Given the description of an element on the screen output the (x, y) to click on. 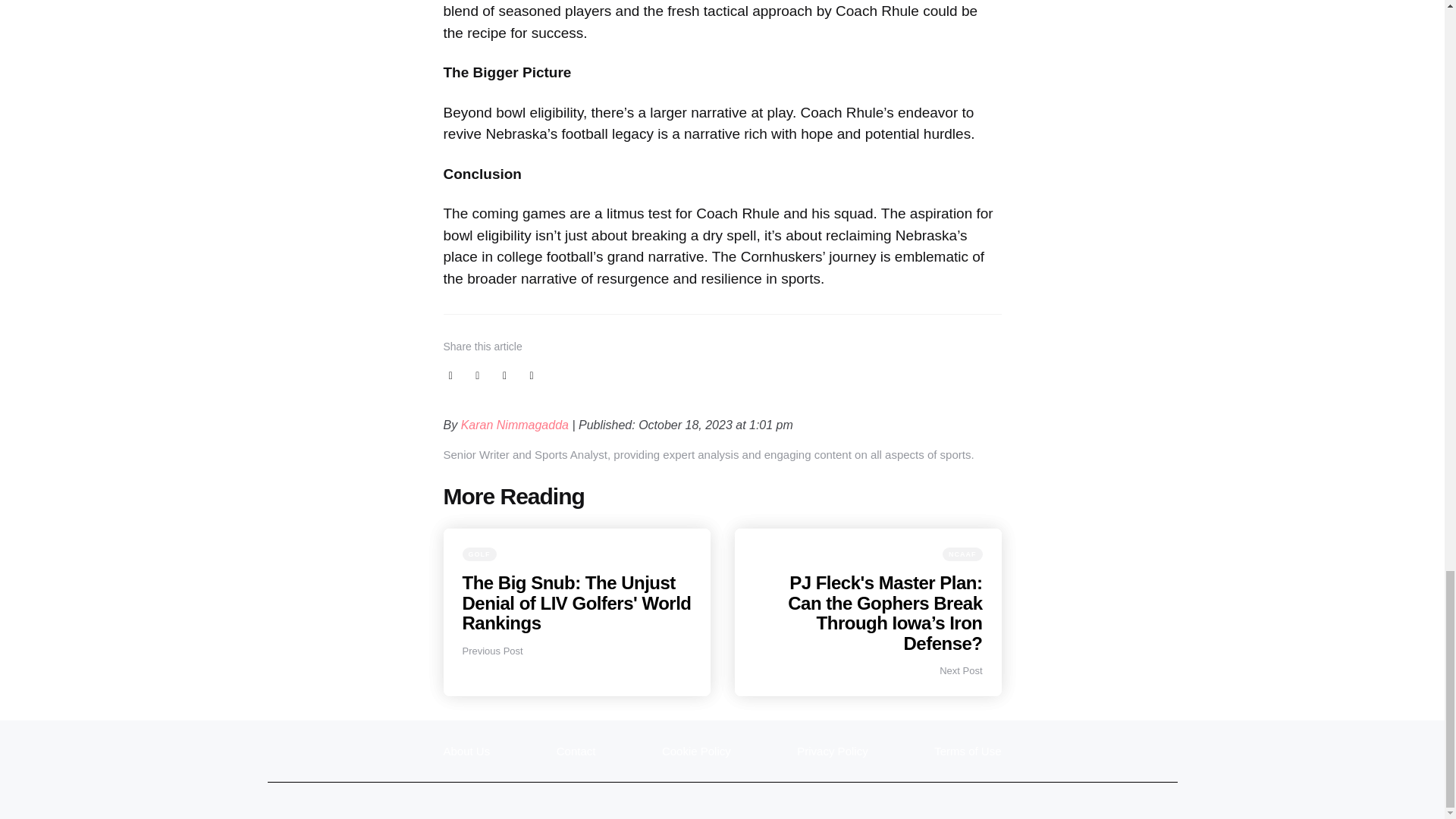
GOLF (479, 554)
Karan Nimmagadda (516, 424)
